Given the description of an element on the screen output the (x, y) to click on. 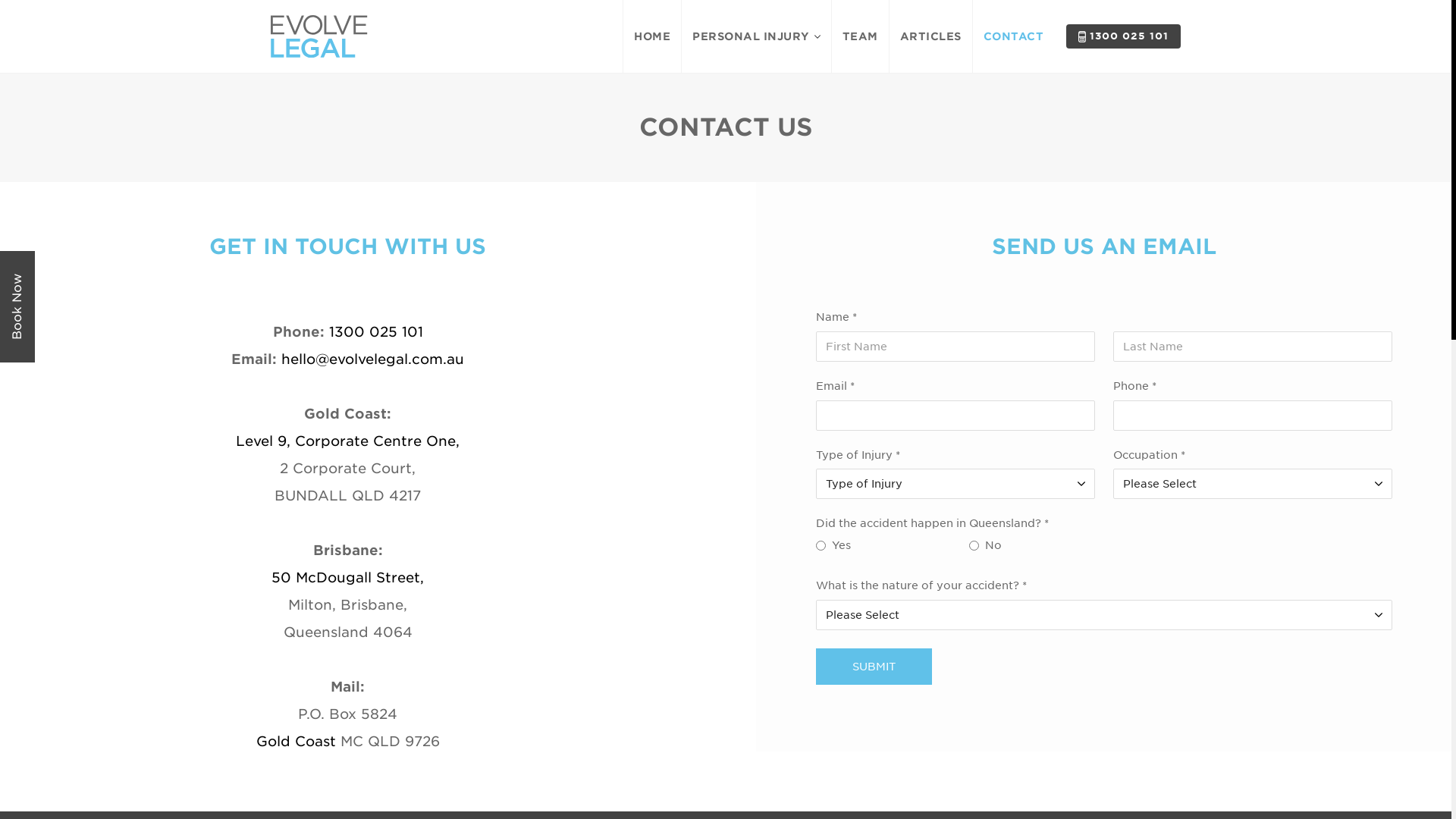
PERSONAL INJURY Element type: text (755, 36)
TEAM Element type: text (859, 36)
SUBMIT Element type: text (873, 666)
HOME Element type: text (651, 36)
1300 025 101 Element type: text (376, 331)
Level 9, Corporate Centre One, Element type: text (347, 440)
ARTICLES Element type: text (930, 36)
Gold Coast Element type: text (295, 741)
1300 025 101 Element type: text (1123, 36)
hello@evolvelegal.com.au Element type: text (372, 359)
CONTACT Element type: text (1013, 36)
50 McDougall Street, Element type: text (347, 577)
